Given the description of an element on the screen output the (x, y) to click on. 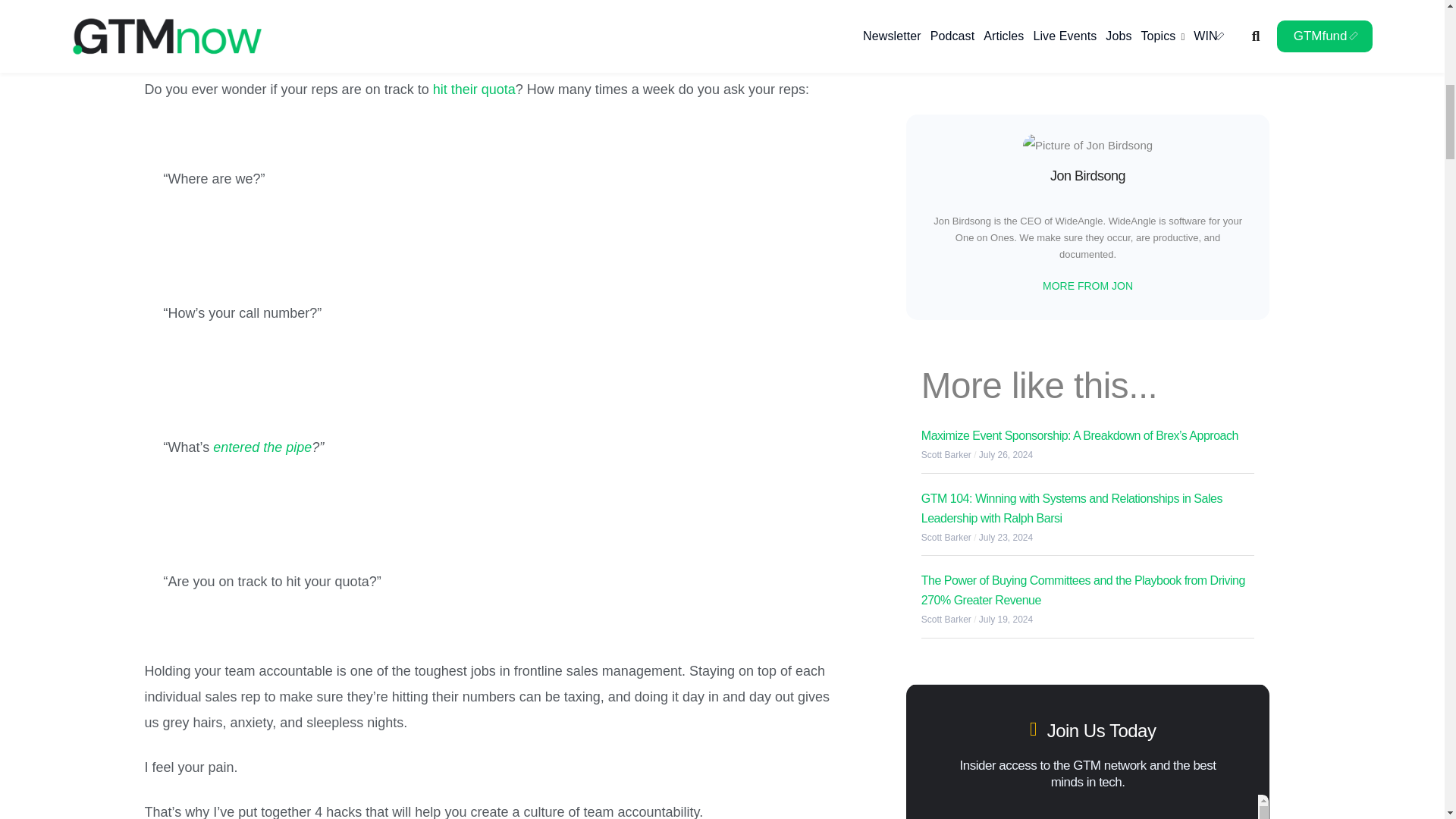
Jon Birdsong (956, 6)
ARTICLES (934, 38)
entered the pipe (261, 447)
hit their quota (473, 89)
